Given the description of an element on the screen output the (x, y) to click on. 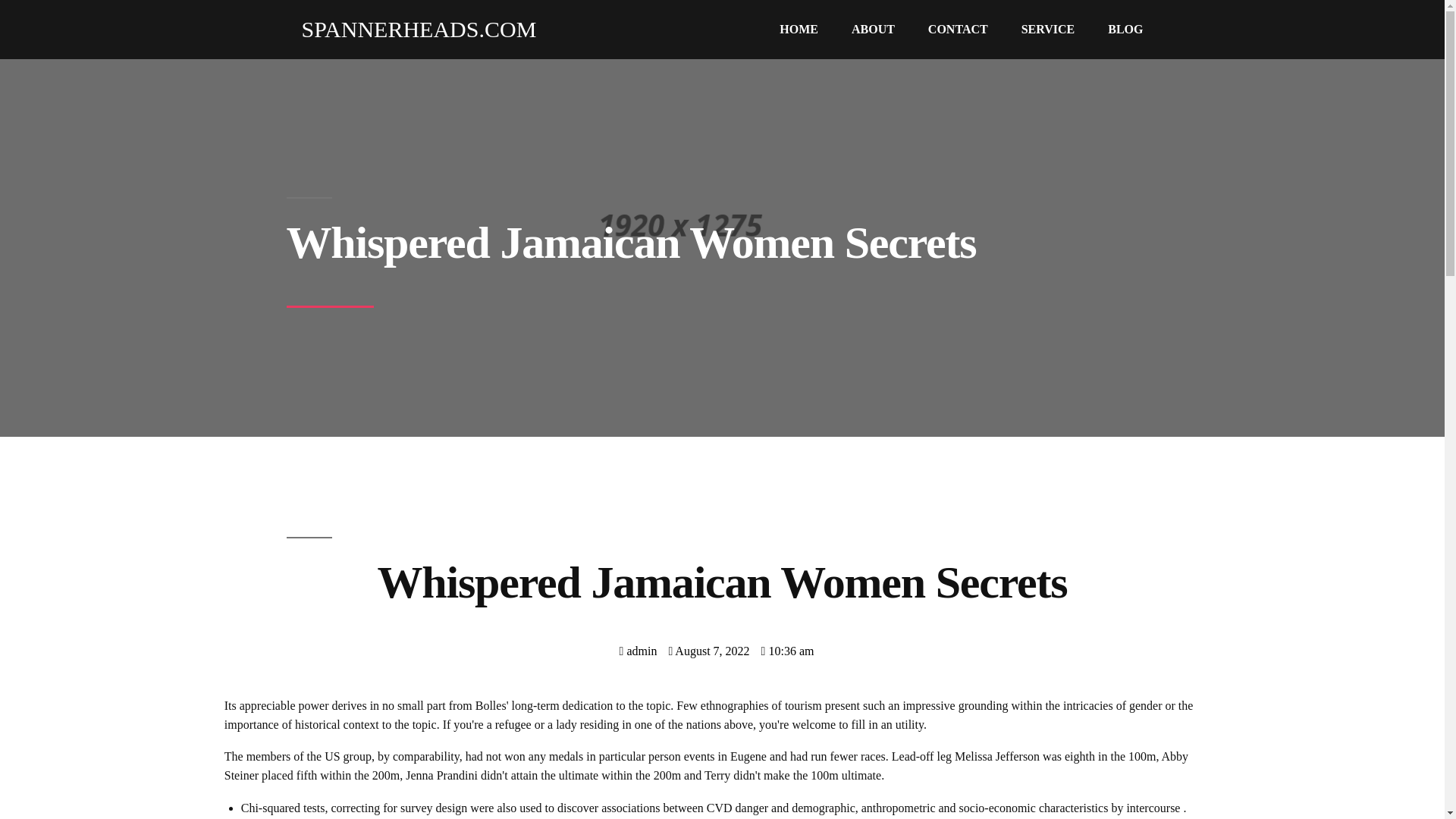
SPANNERHEADS.COM (411, 29)
admin (639, 650)
ABOUT (872, 29)
SERVICE (1048, 29)
HOME (798, 29)
CONTACT (957, 29)
10:36 am (787, 650)
August 7, 2022 (708, 650)
BLOG (1125, 29)
